Given the description of an element on the screen output the (x, y) to click on. 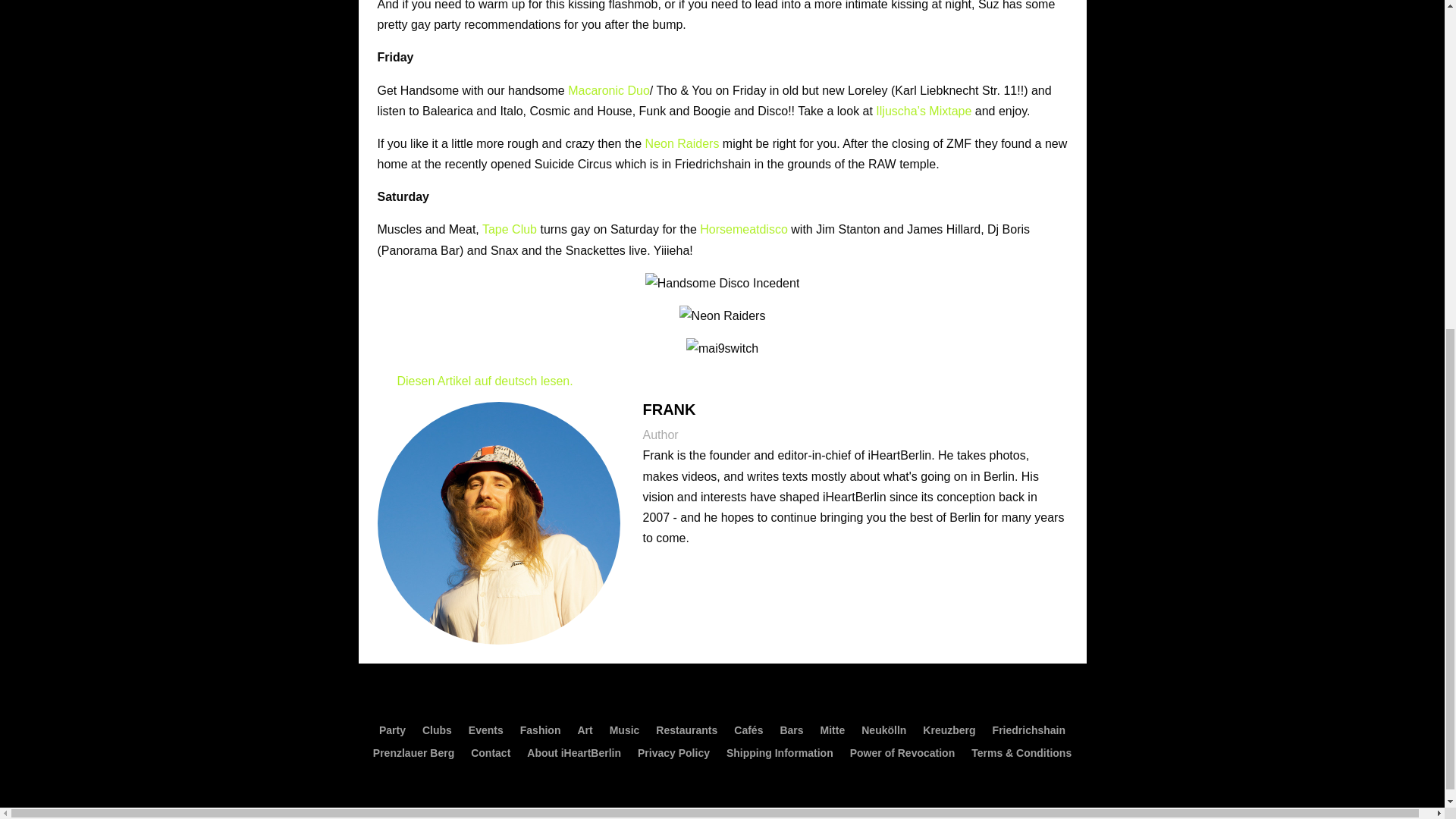
Tape Club (509, 228)
mai9switch (721, 348)
Handsome Disco Incedent (722, 282)
Fashion (539, 733)
FRANK (669, 409)
Horsemeatdisco (743, 228)
Diesen Artikel auf deutsch lesen. (475, 380)
Clubs (436, 733)
Kreuzberg (949, 733)
Macaronic Duo (608, 90)
Restaurants (686, 733)
Music (625, 733)
Party (392, 733)
Neon Raiders (682, 143)
Mitte (833, 733)
